Given the description of an element on the screen output the (x, y) to click on. 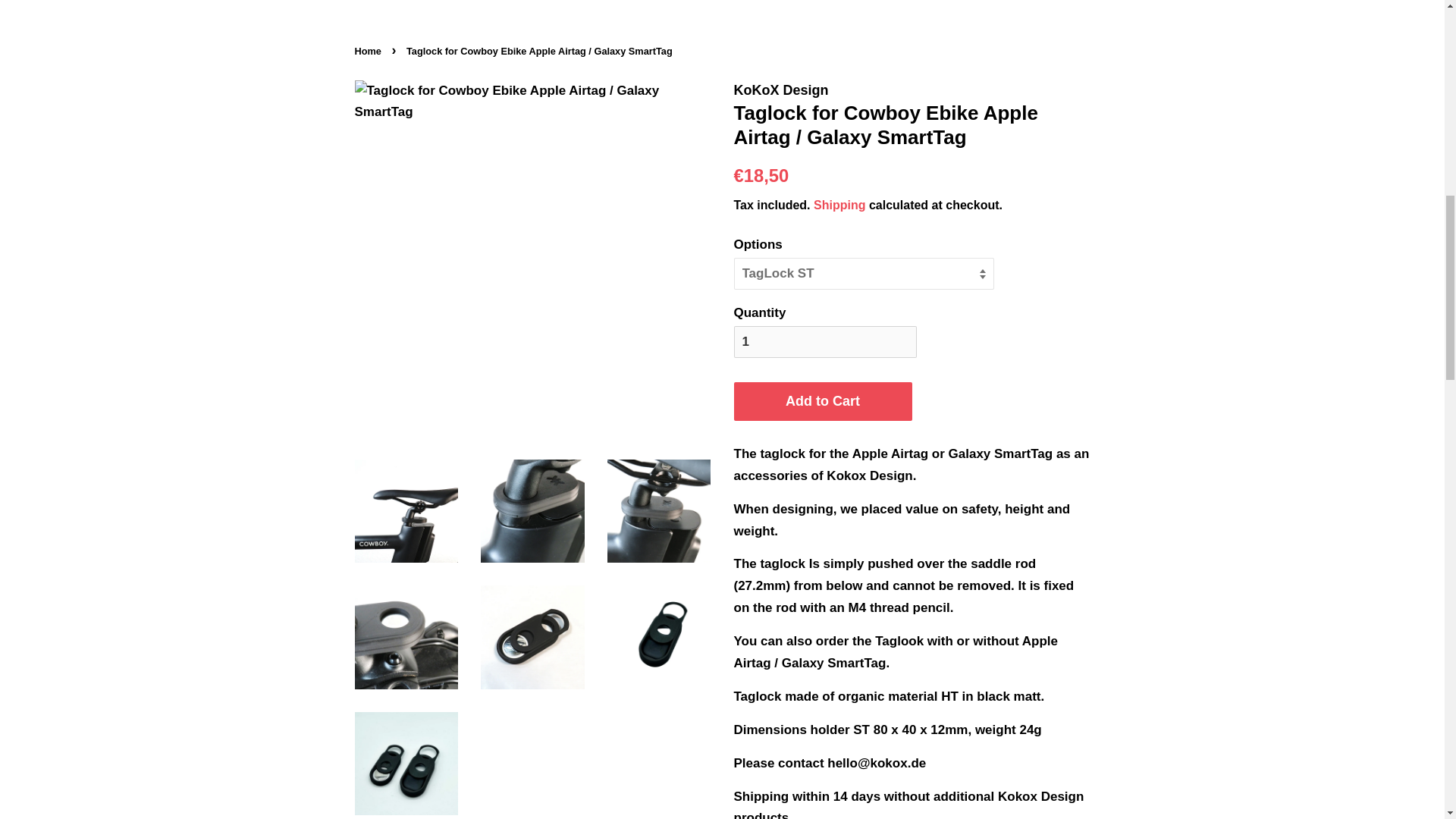
E-bikes (533, 4)
Back to home page (370, 50)
1 (825, 341)
Office (703, 4)
Reside (837, 4)
Gifts (769, 4)
CampingX (620, 4)
MaritimX (911, 4)
